Given the description of an element on the screen output the (x, y) to click on. 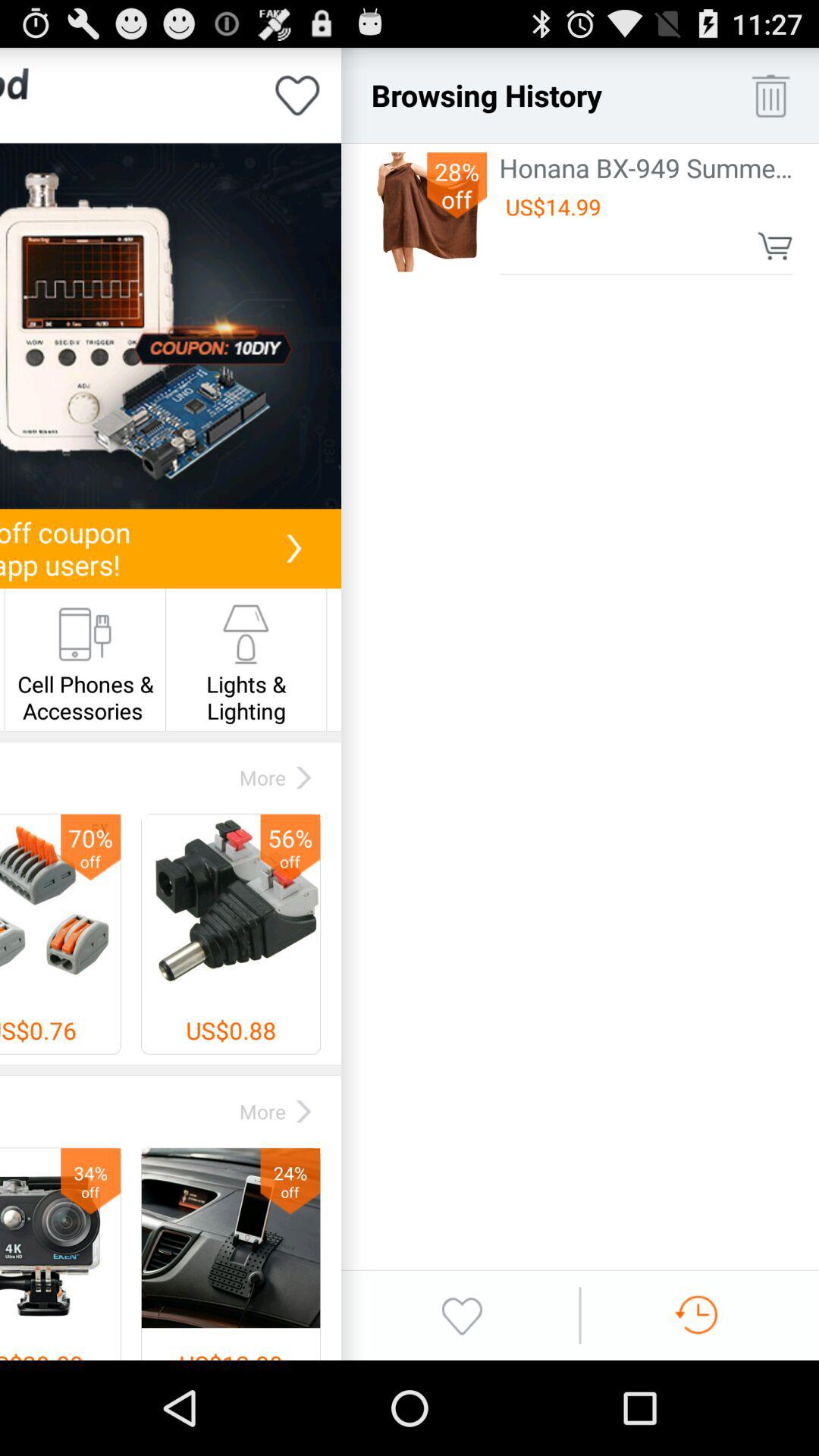
tap the honana bx 949 item (645, 167)
